Given the description of an element on the screen output the (x, y) to click on. 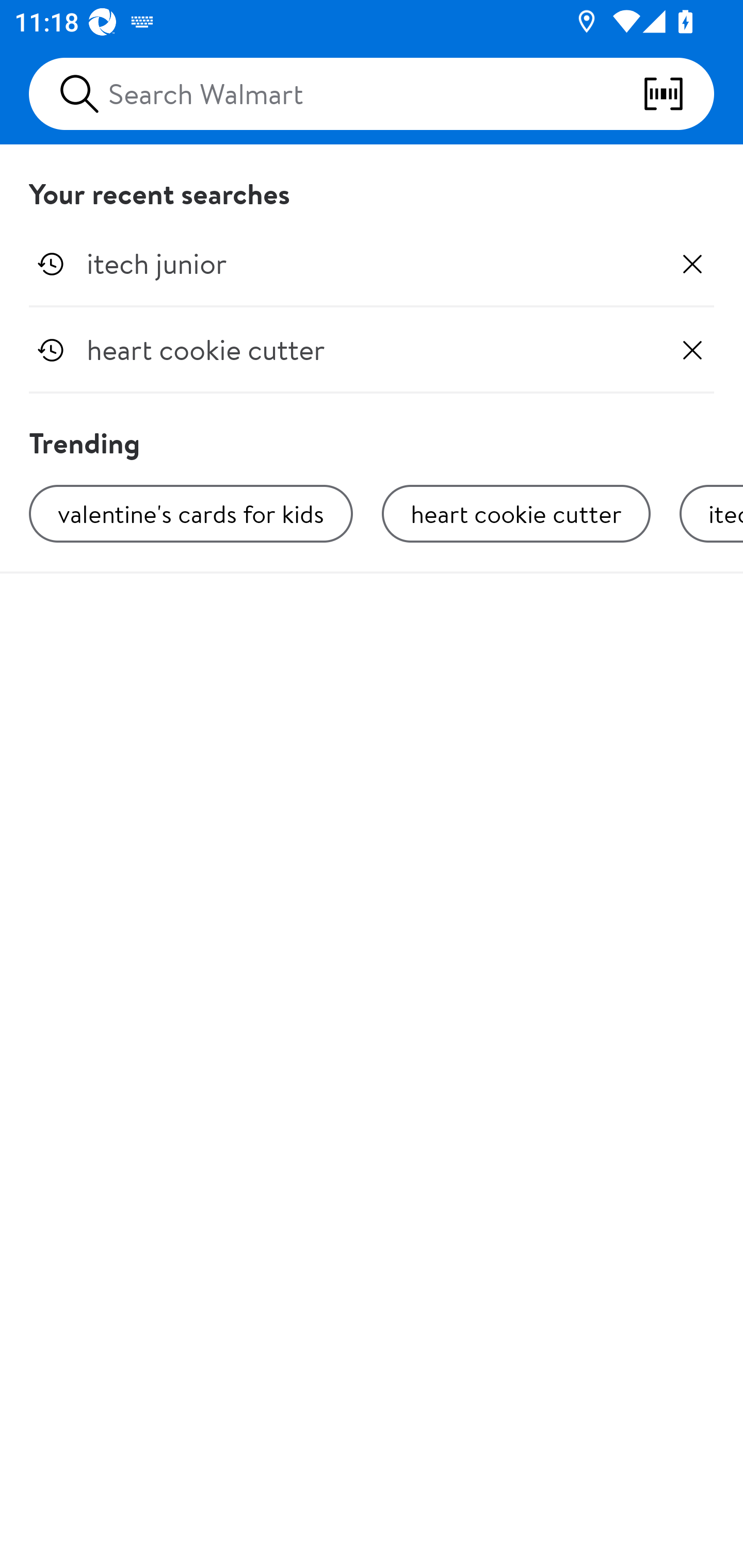
Search Walmart scan barcodes qr codes and more (371, 94)
scan barcodes qr codes and more (677, 94)
Remove recent search for itech junior (692, 264)
Remove recent search for heart cookie cutter (692, 350)
